Given the description of an element on the screen output the (x, y) to click on. 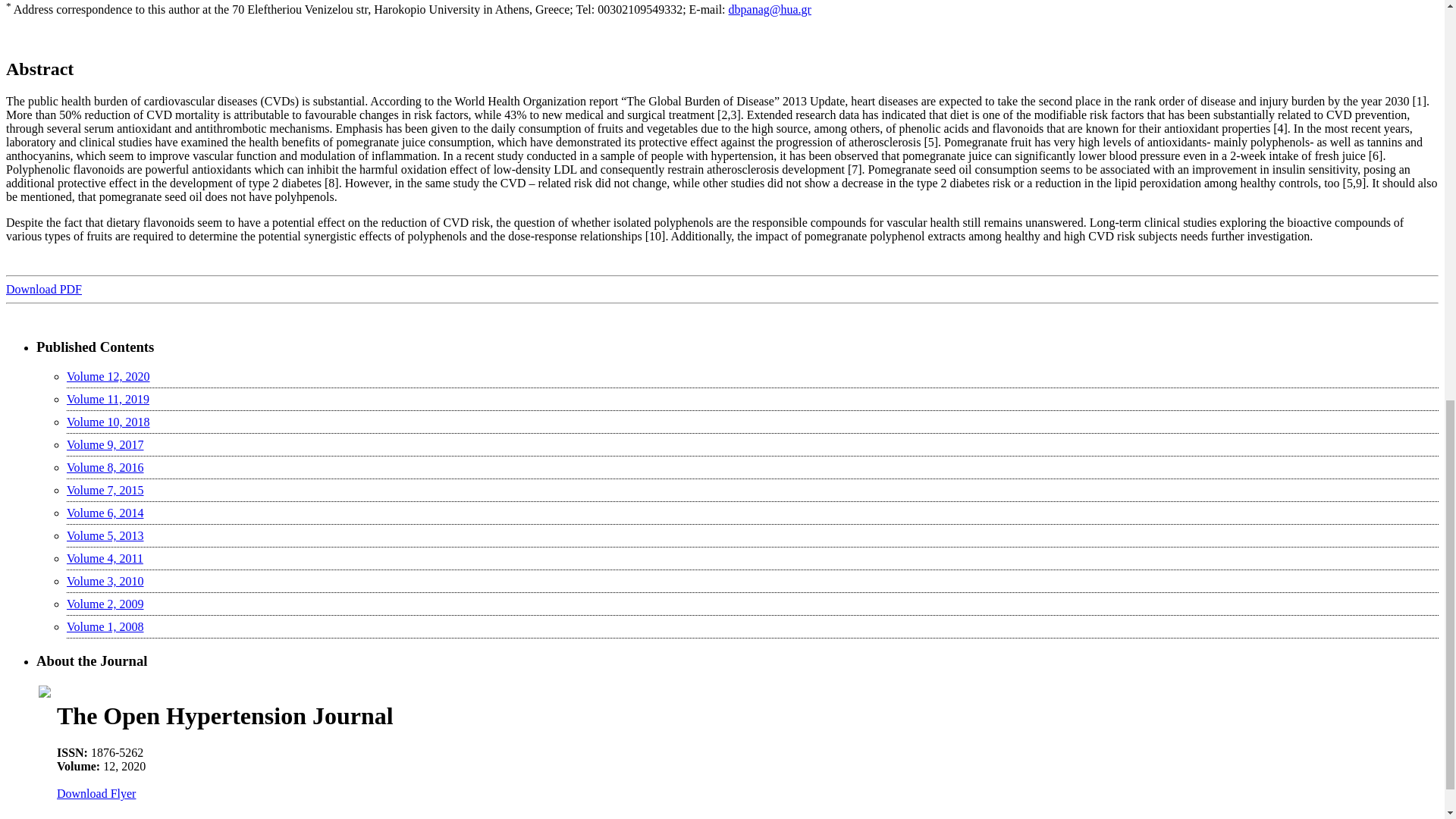
Volume 2, 2009 (104, 603)
Volume 10, 2018 (107, 421)
Volume 3, 2010 (104, 581)
Download PDF (43, 288)
Download Flyer (95, 793)
Volume 11, 2019 (107, 399)
Volume 6, 2014 (104, 512)
Volume 5, 2013 (104, 535)
Volume 7, 2015 (104, 490)
Volume 4, 2011 (104, 558)
Volume 9, 2017 (104, 444)
Volume 12, 2020 (107, 376)
Volume 1, 2008 (104, 626)
Volume 8, 2016 (104, 467)
